Given the description of an element on the screen output the (x, y) to click on. 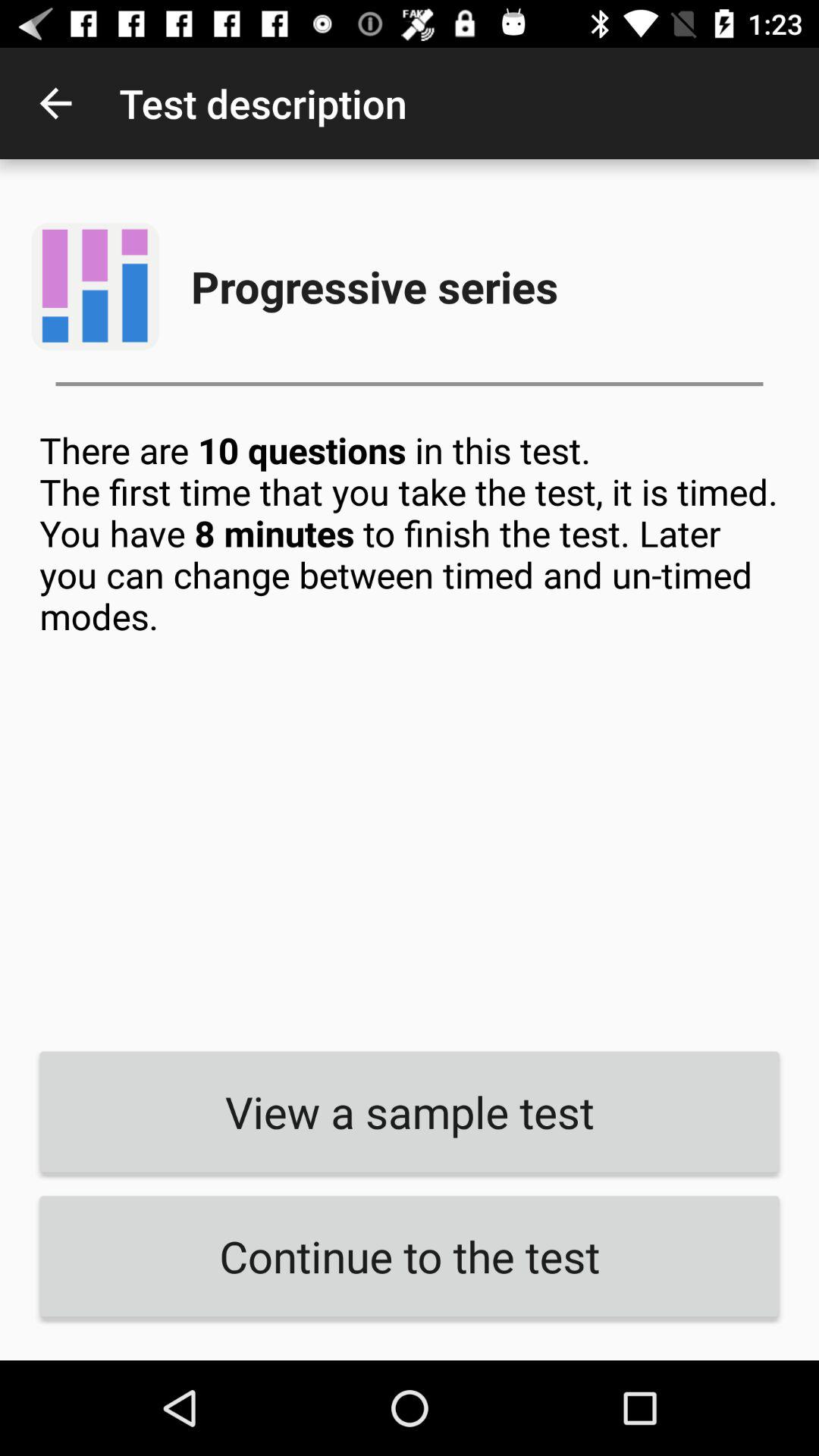
turn off the item below the there are 10 (409, 1111)
